Given the description of an element on the screen output the (x, y) to click on. 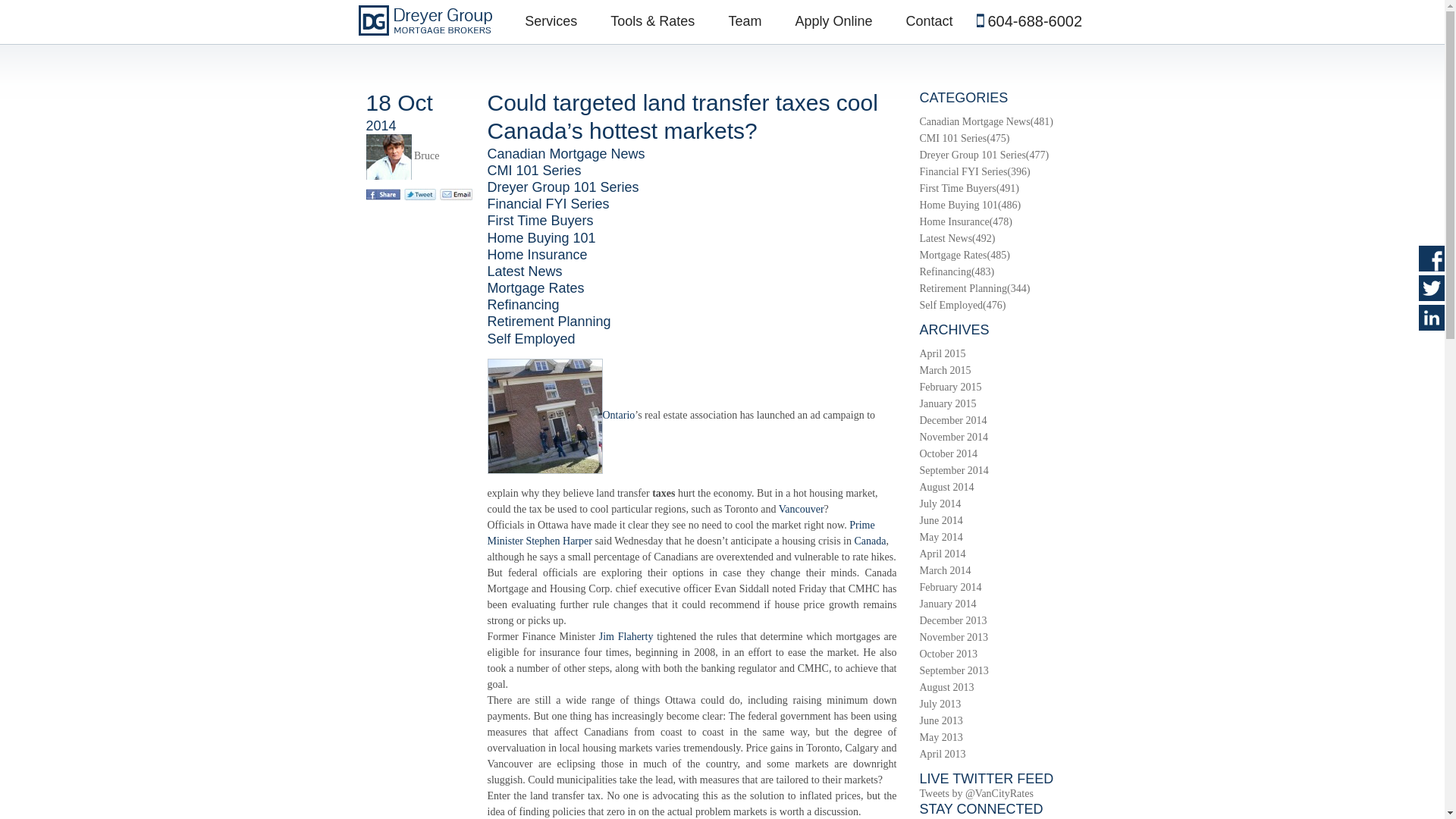
Jim Flaherty (625, 636)
First Time Buyers (539, 220)
Dreyer Group Mortgage Brokers (425, 20)
Canada (869, 541)
Refinancing (522, 304)
Home Buying 101 (540, 237)
Vancouver (801, 509)
Dreyer Group 101 Series (562, 186)
Team (744, 21)
Vancouver (801, 509)
